Given the description of an element on the screen output the (x, y) to click on. 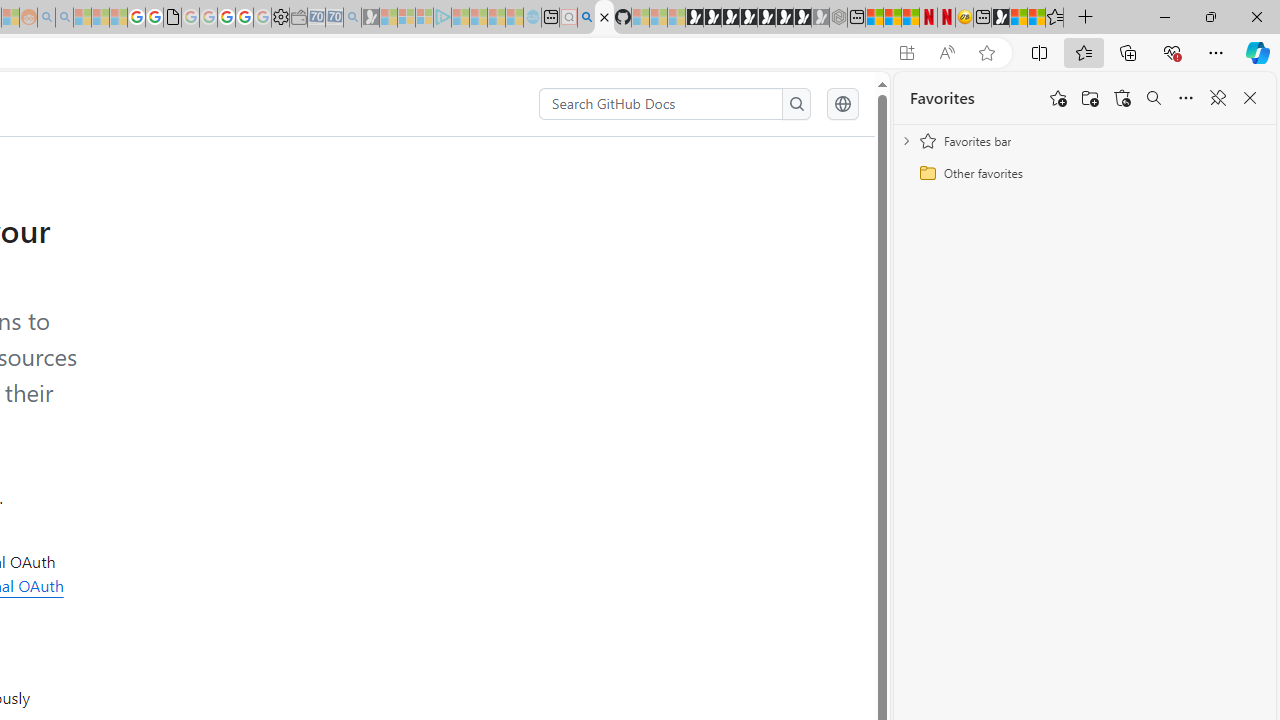
Search GitHub Docs (661, 103)
Add this page to favorites (1058, 98)
